Given the description of an element on the screen output the (x, y) to click on. 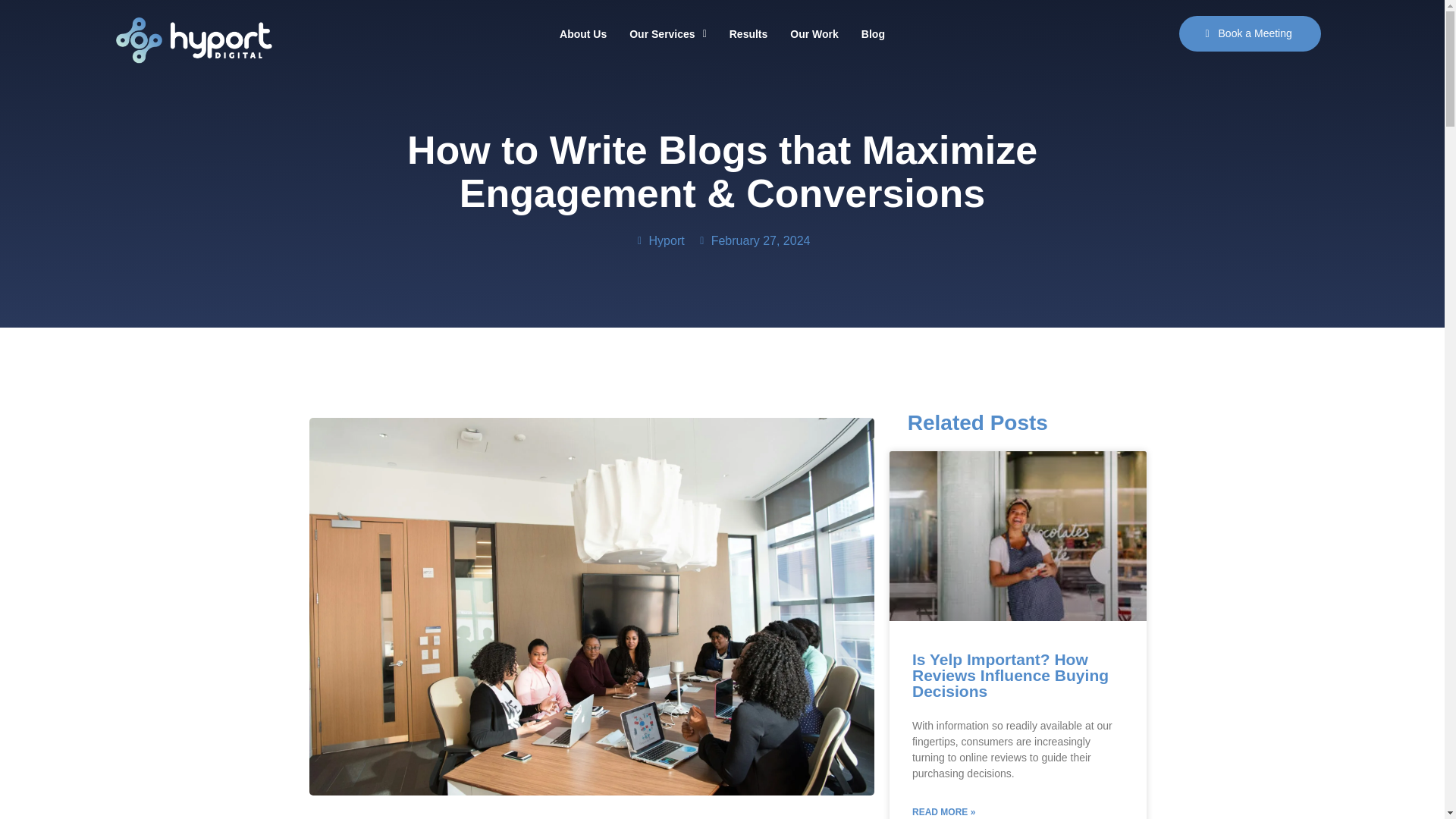
Related Posts (1018, 422)
Blog (873, 33)
Book a Meeting (1203, 33)
Our Work (814, 33)
Book a Meeting (1249, 32)
Results (721, 240)
Our Services (722, 33)
About Us (747, 33)
